Given the description of an element on the screen output the (x, y) to click on. 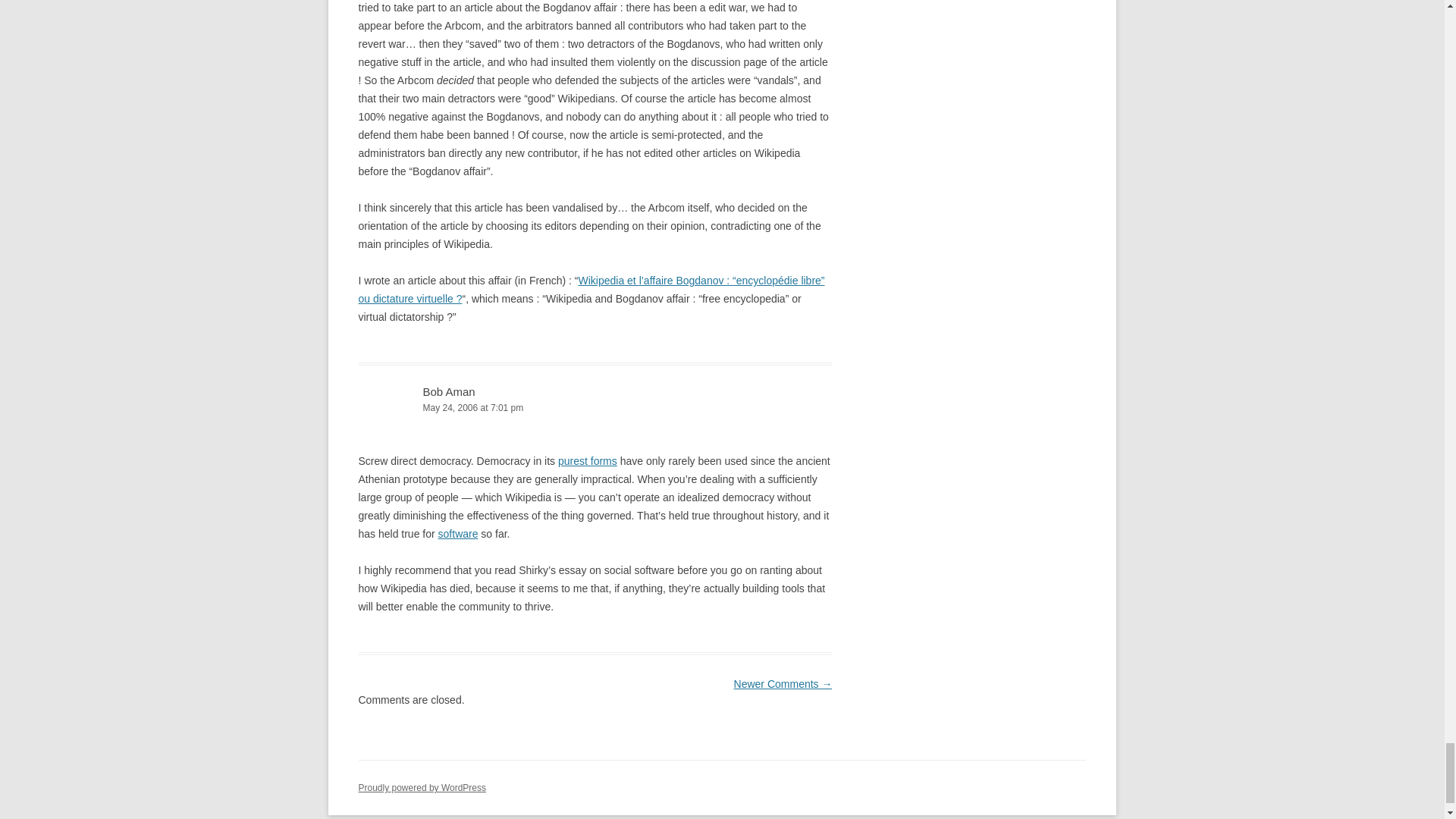
Semantic Personal Publishing Platform (422, 787)
